Given the description of an element on the screen output the (x, y) to click on. 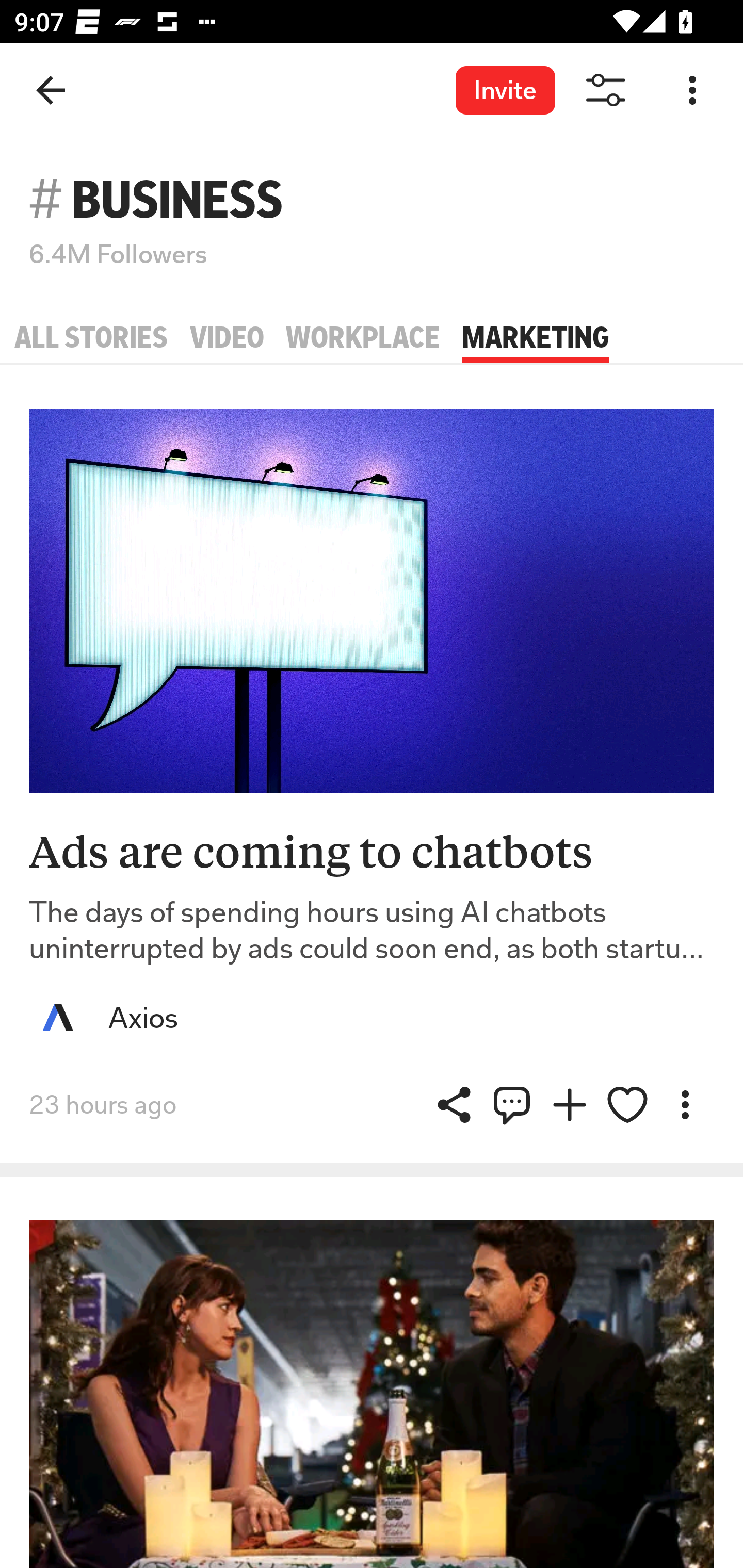
Back (50, 90)
Options (692, 90)
Invite (505, 89)
ALL STORIES (90, 337)
VIDEO (227, 337)
WORKPLACE (362, 337)
MARKETING (535, 337)
Share (453, 1104)
Share (511, 1104)
Flip into Magazine (569, 1104)
Like (627, 1104)
Options (685, 1104)
